Given the description of an element on the screen output the (x, y) to click on. 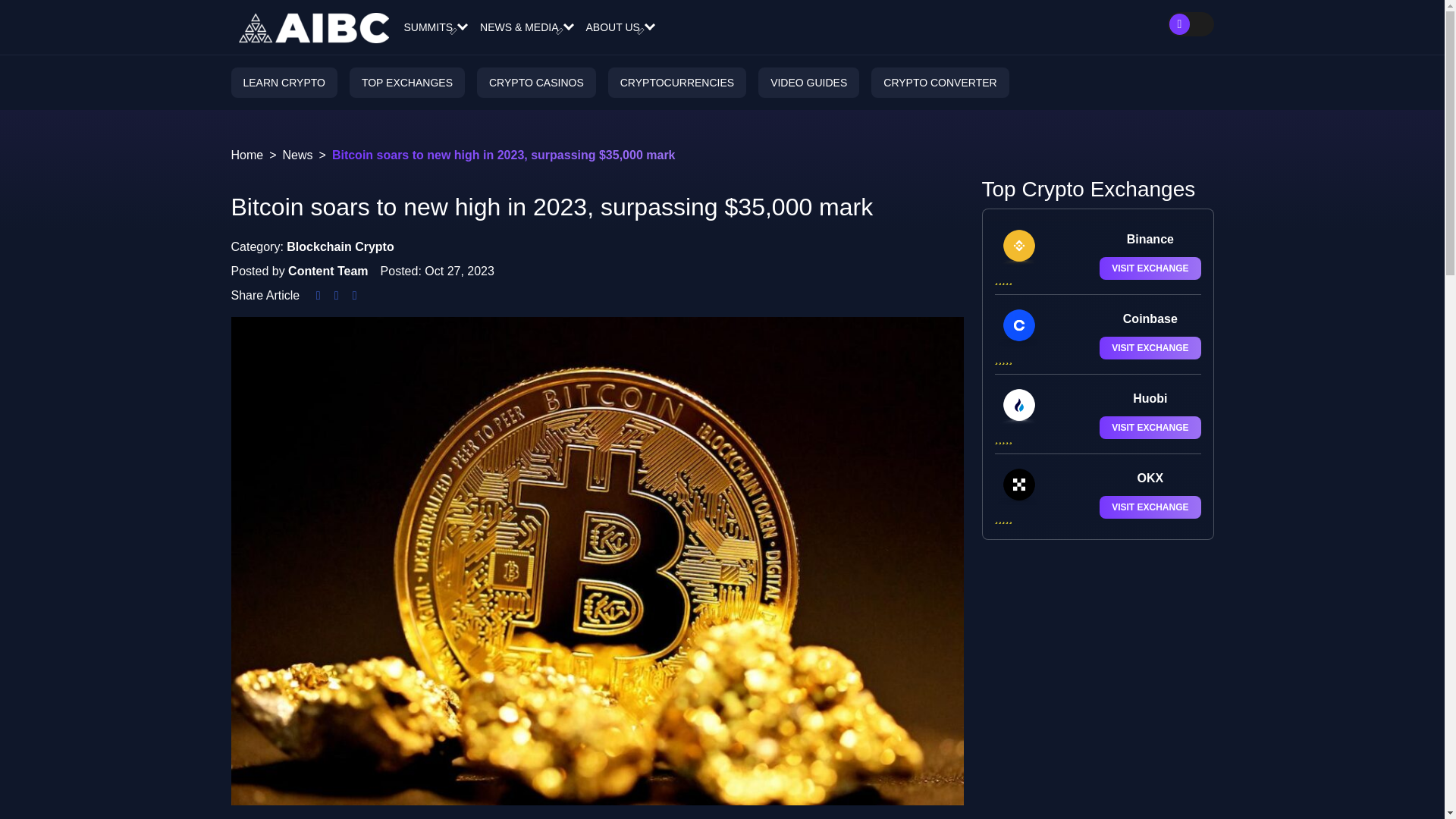
SUMMITS (433, 27)
